Given the description of an element on the screen output the (x, y) to click on. 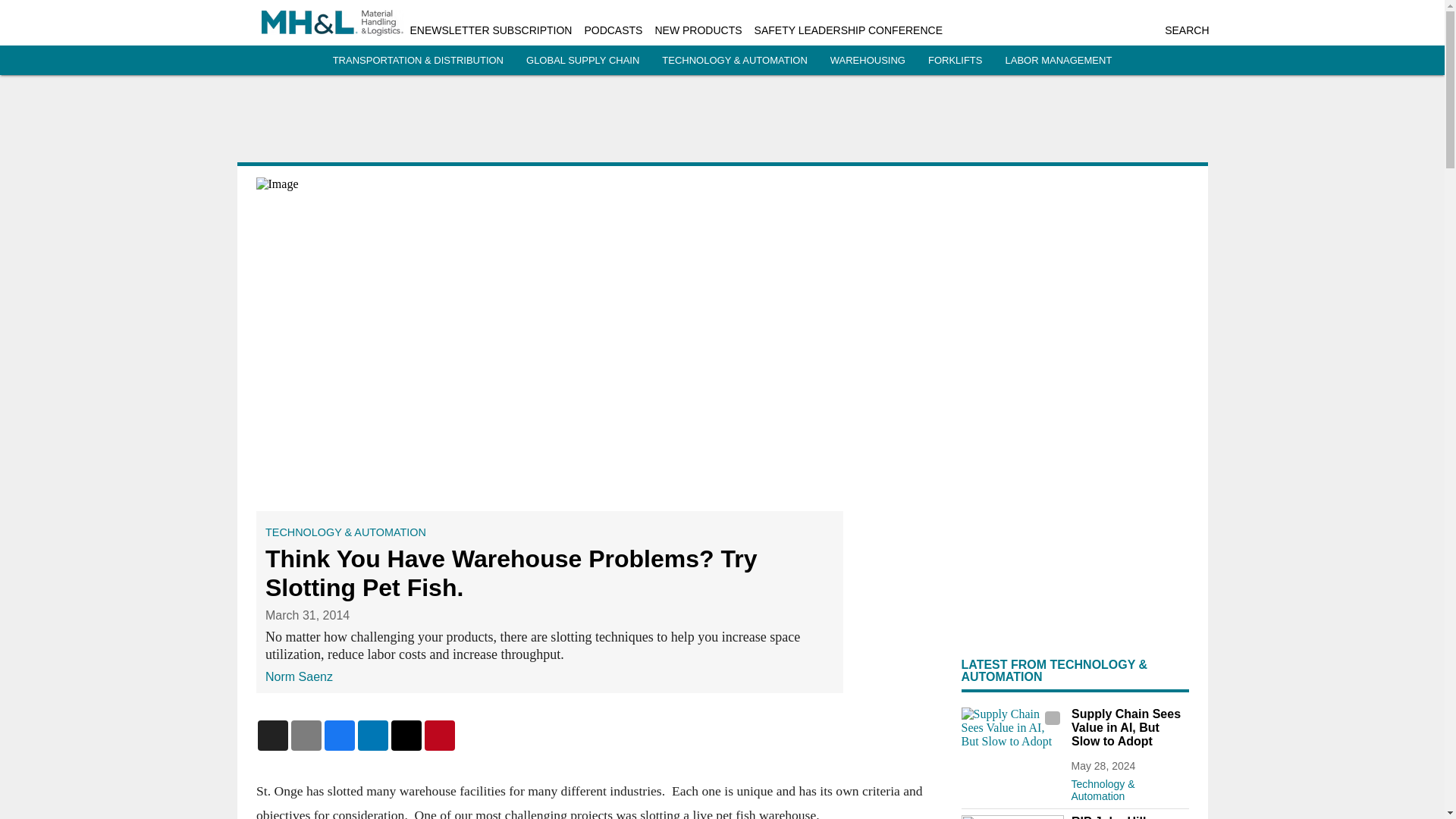
Supply Chain Sees Value in AI, But Slow to Adopt (1012, 735)
WAREHOUSING (867, 60)
RIP John Hill, Industry Icon (1129, 816)
SEARCH (1186, 30)
LABOR MANAGEMENT (1058, 60)
PODCASTS (612, 30)
FORKLIFTS (955, 60)
NEW PRODUCTS (697, 30)
Norm Saenz (298, 675)
Supply Chain Sees Value in AI, But Slow to Adopt (1129, 727)
GLOBAL SUPPLY CHAIN (582, 60)
SAFETY LEADERSHIP CONFERENCE (848, 30)
ENEWSLETTER SUBSCRIPTION (490, 30)
